Given the description of an element on the screen output the (x, y) to click on. 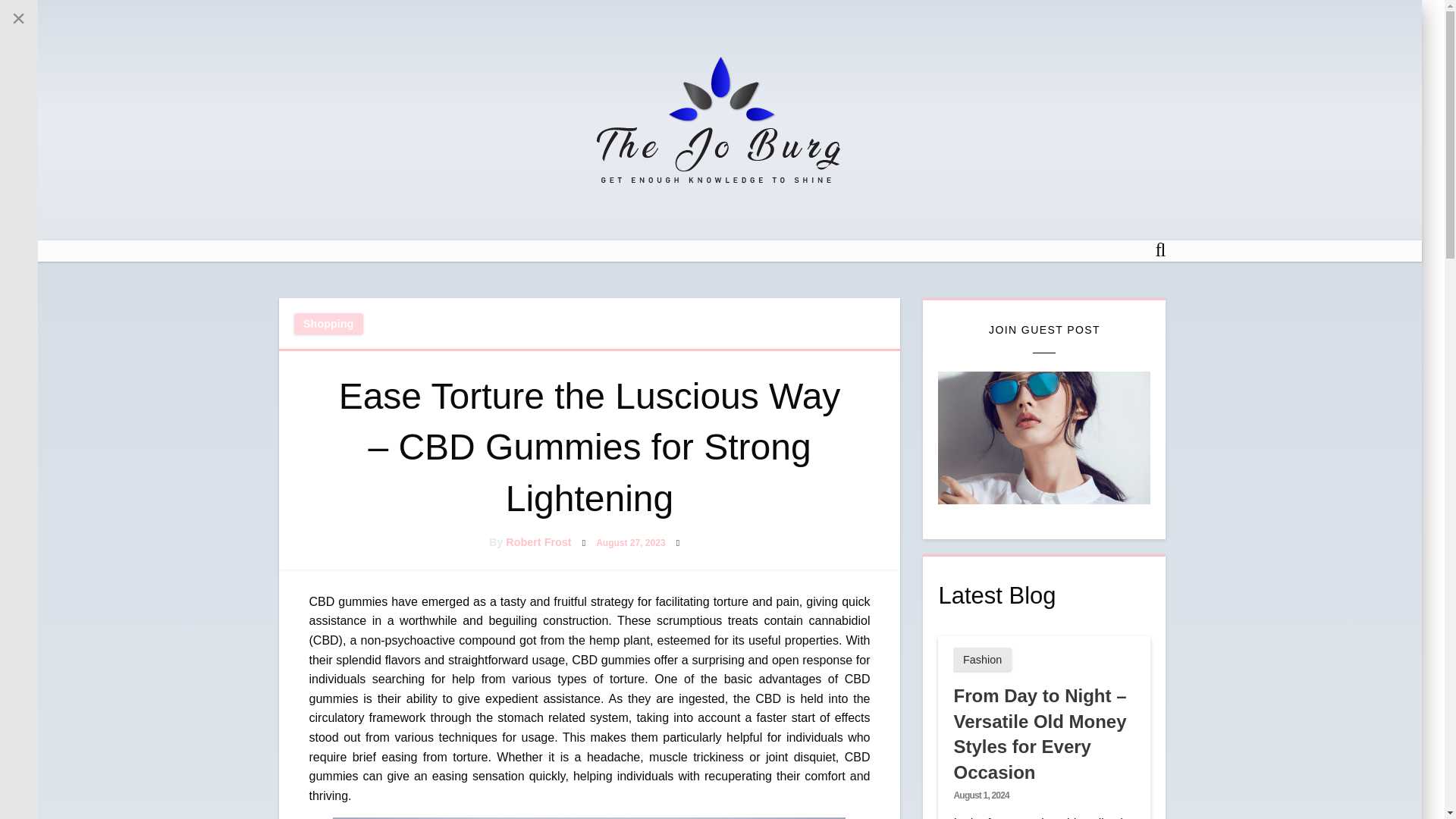
Fashion (981, 658)
Shopping (328, 323)
The Jo Burg (695, 210)
Robert Frost (537, 541)
Robert Frost (537, 541)
August 27, 2023 (630, 542)
